Given the description of an element on the screen output the (x, y) to click on. 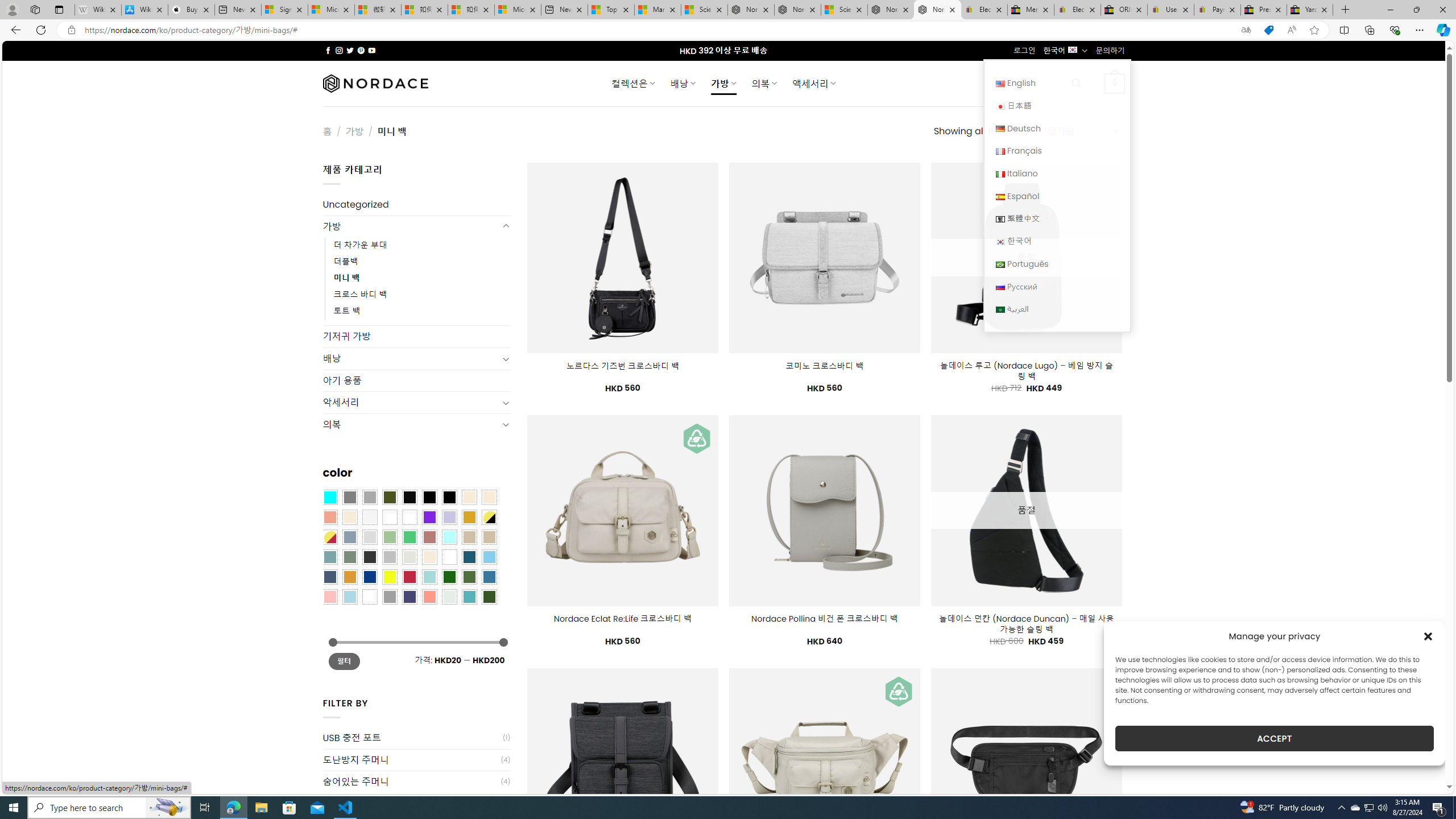
English (999, 83)
Cream (349, 517)
